Given the description of an element on the screen output the (x, y) to click on. 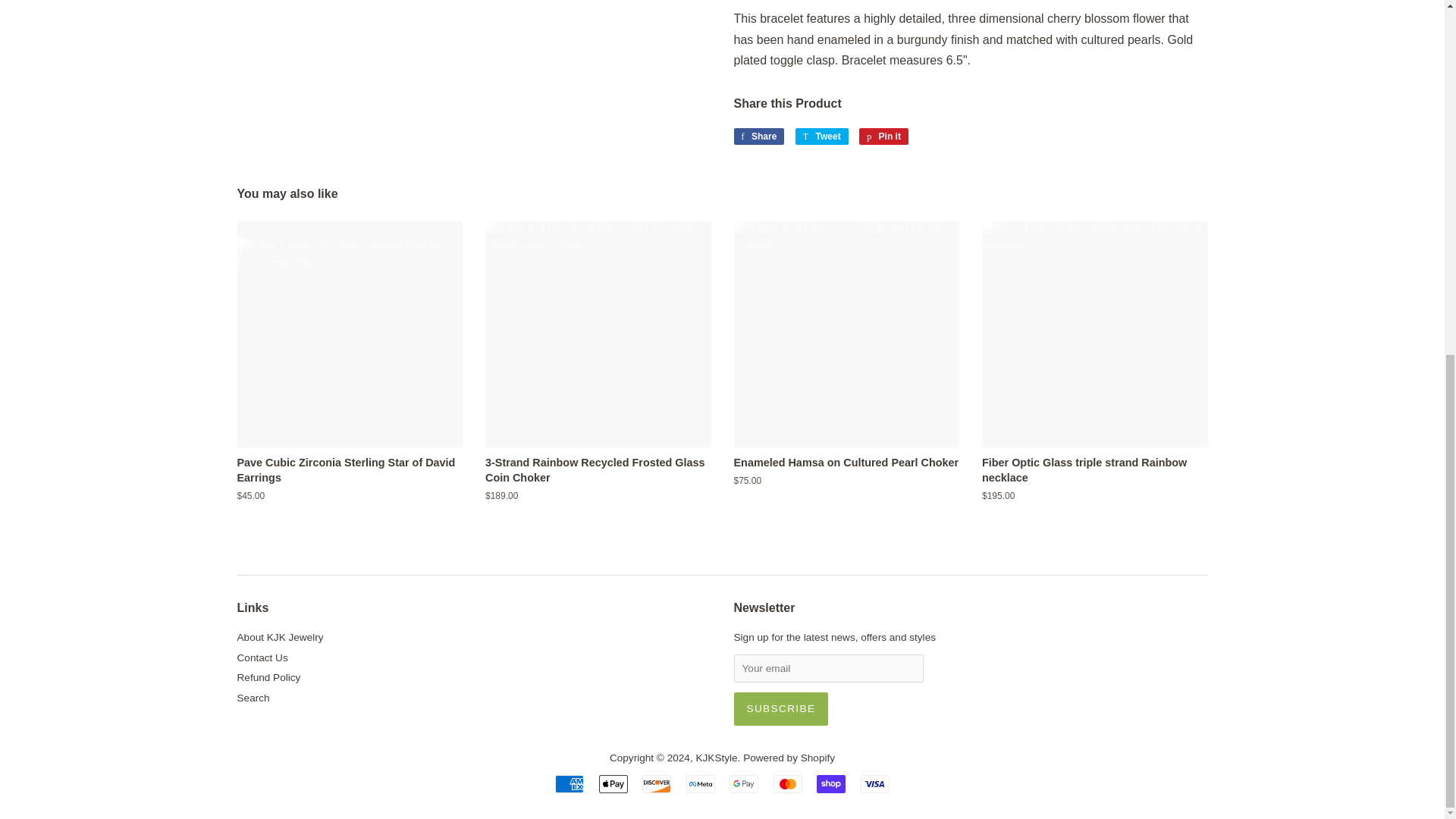
Share on Facebook (758, 135)
Apple Pay (612, 783)
Google Pay (743, 783)
Discover (656, 783)
Tweet on Twitter (821, 135)
Shop Pay (830, 783)
Mastercard (787, 783)
Pin on Pinterest (883, 135)
Meta Pay (699, 783)
Subscribe (780, 708)
